Given the description of an element on the screen output the (x, y) to click on. 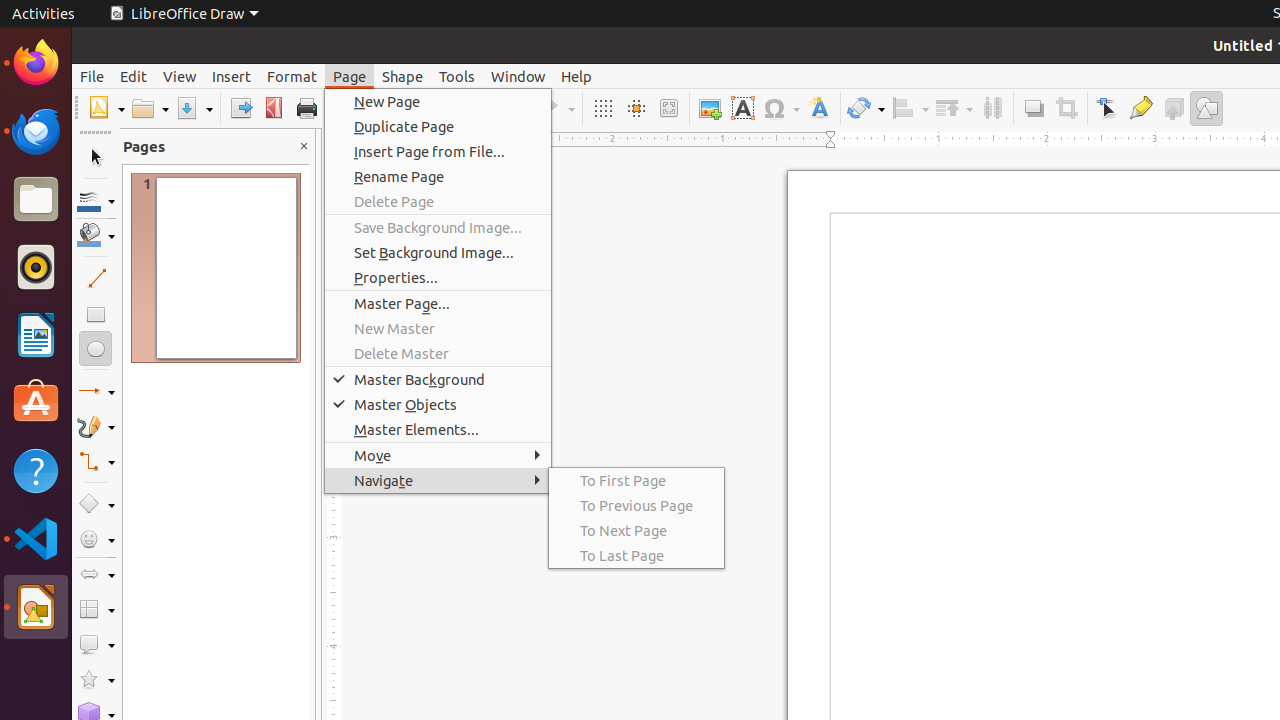
Text Box Element type: push-button (742, 108)
Transformations Element type: push-button (866, 108)
New Master Element type: menu-item (438, 328)
Master Background Element type: check-menu-item (438, 379)
